Given the description of an element on the screen output the (x, y) to click on. 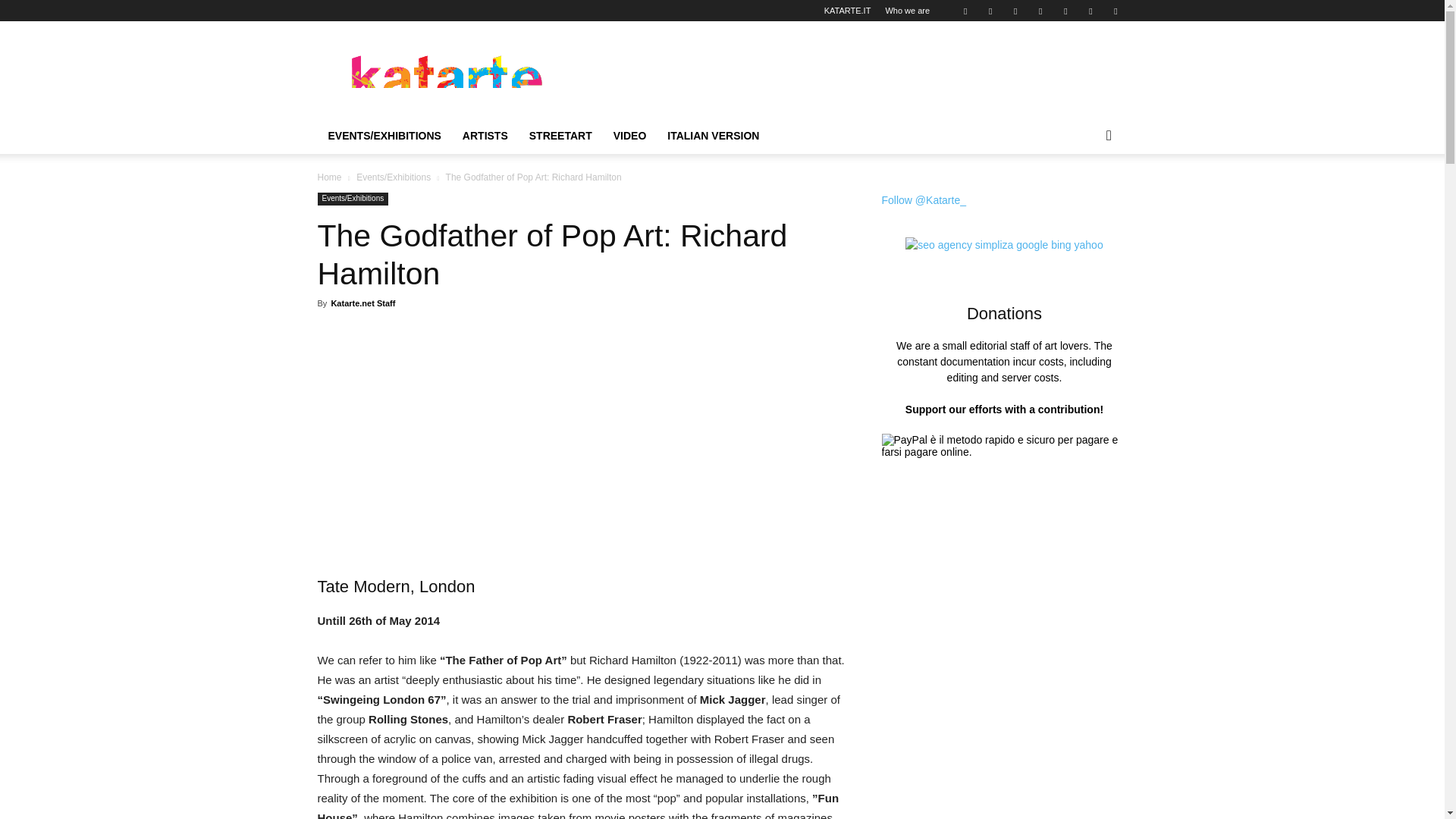
Delicious (964, 10)
Home (328, 176)
STREETART (560, 135)
ITALIAN VERSION (713, 135)
Pinterest (1040, 10)
KATARTE.IT (847, 10)
Twitter (1114, 10)
StumbleUpon (1090, 10)
Facebook (989, 10)
RSS (1065, 10)
